Given the description of an element on the screen output the (x, y) to click on. 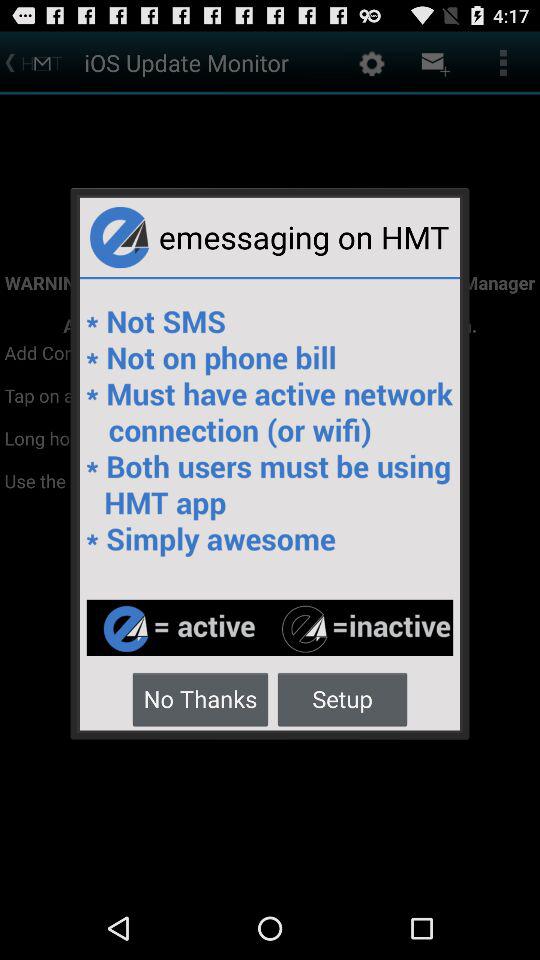
swipe to the no thanks (200, 698)
